Given the description of an element on the screen output the (x, y) to click on. 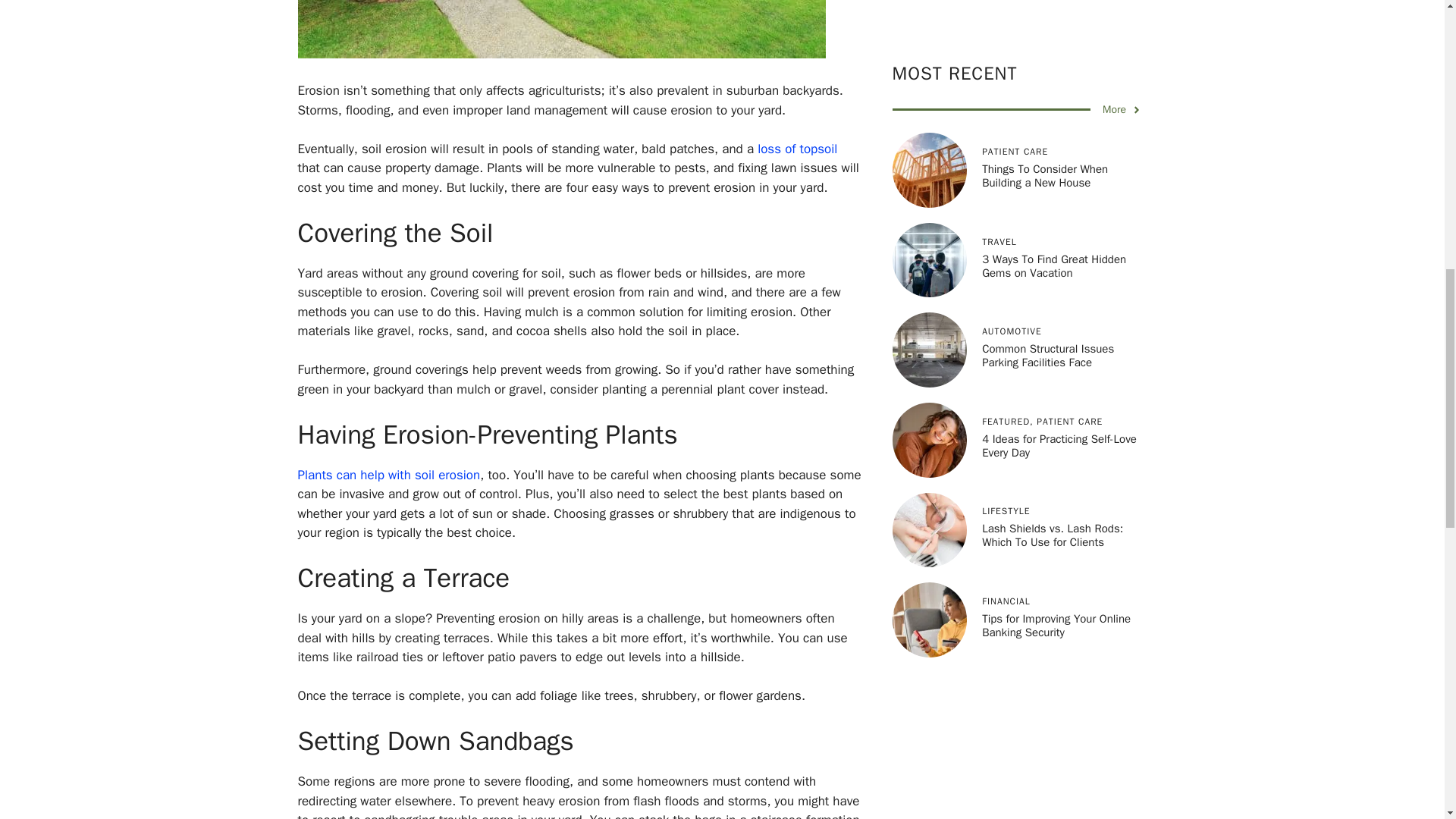
Plants can help with soil erosion (388, 474)
Lash Shields vs. Lash Rods: Which To Use for Clients (1051, 28)
loss of topsoil (797, 148)
